Given the description of an element on the screen output the (x, y) to click on. 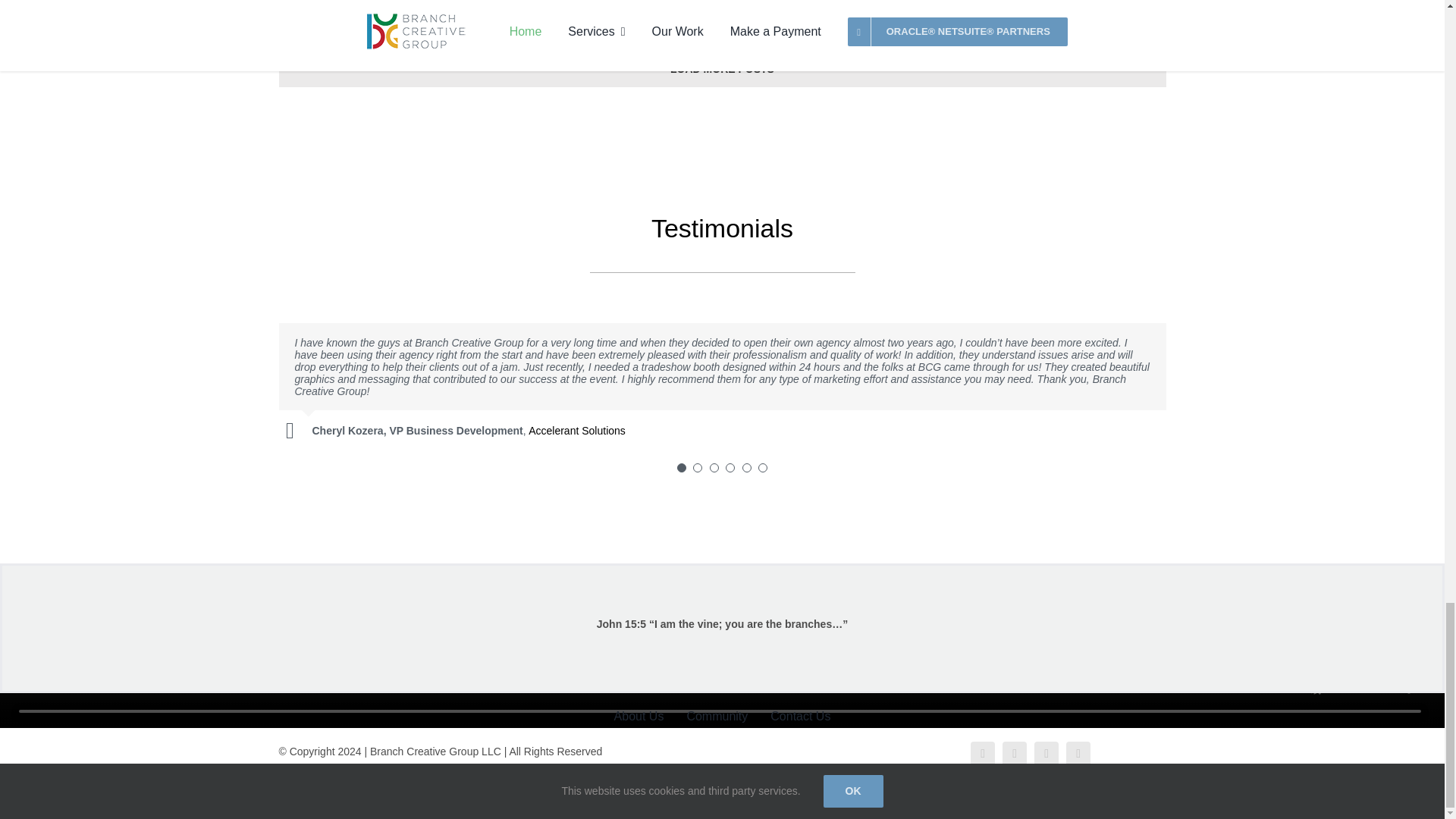
Accelerant Solutions (577, 430)
LOAD MORE POSTS (722, 67)
